Given the description of an element on the screen output the (x, y) to click on. 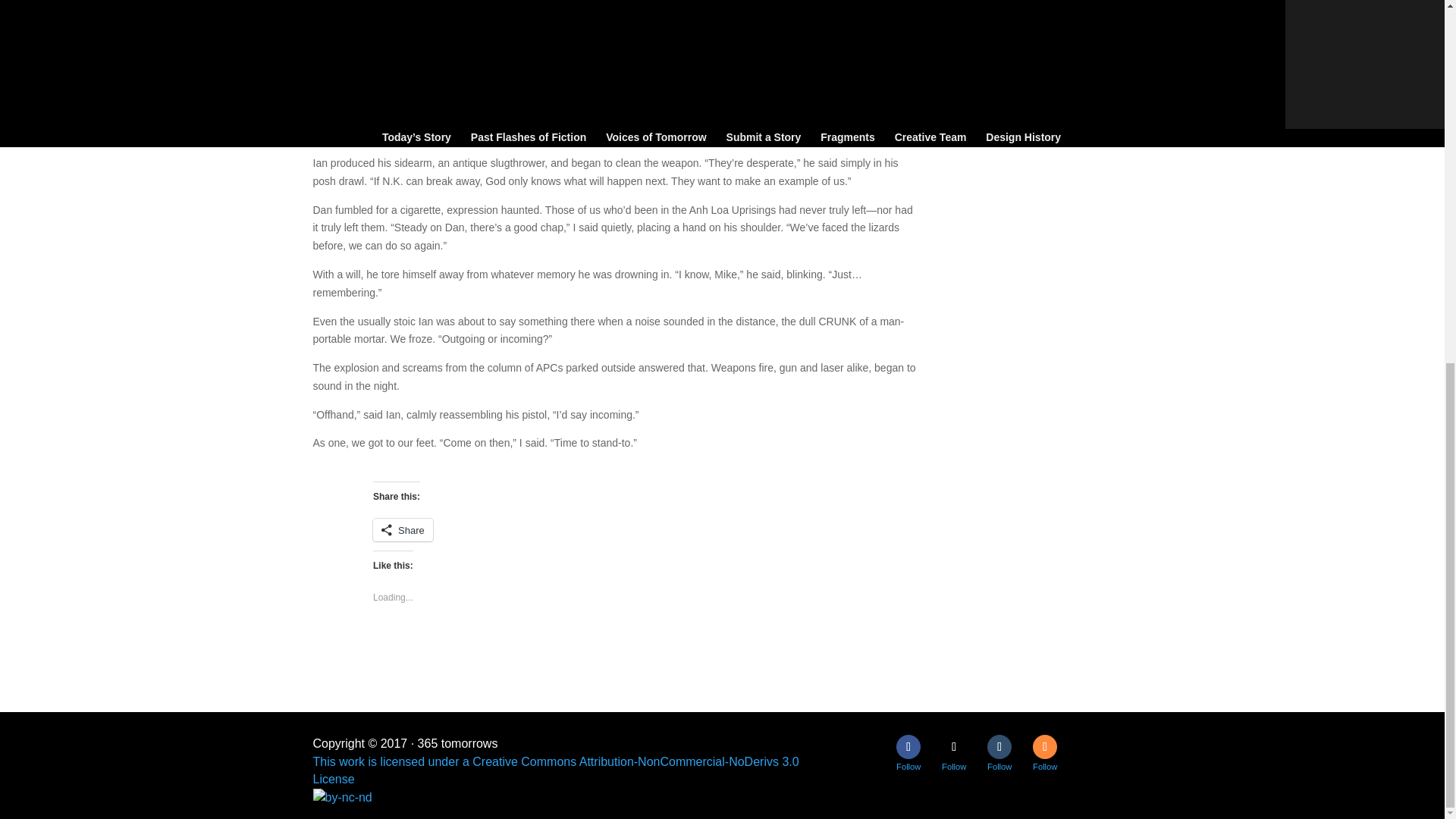
Follow on Twitter (954, 746)
Follow (908, 746)
Follow on tumblr (999, 746)
Follow (954, 746)
Follow (999, 746)
Follow on RSS (1044, 746)
Follow on Facebook (908, 746)
Share (402, 529)
Follow (1044, 746)
